Given the description of an element on the screen output the (x, y) to click on. 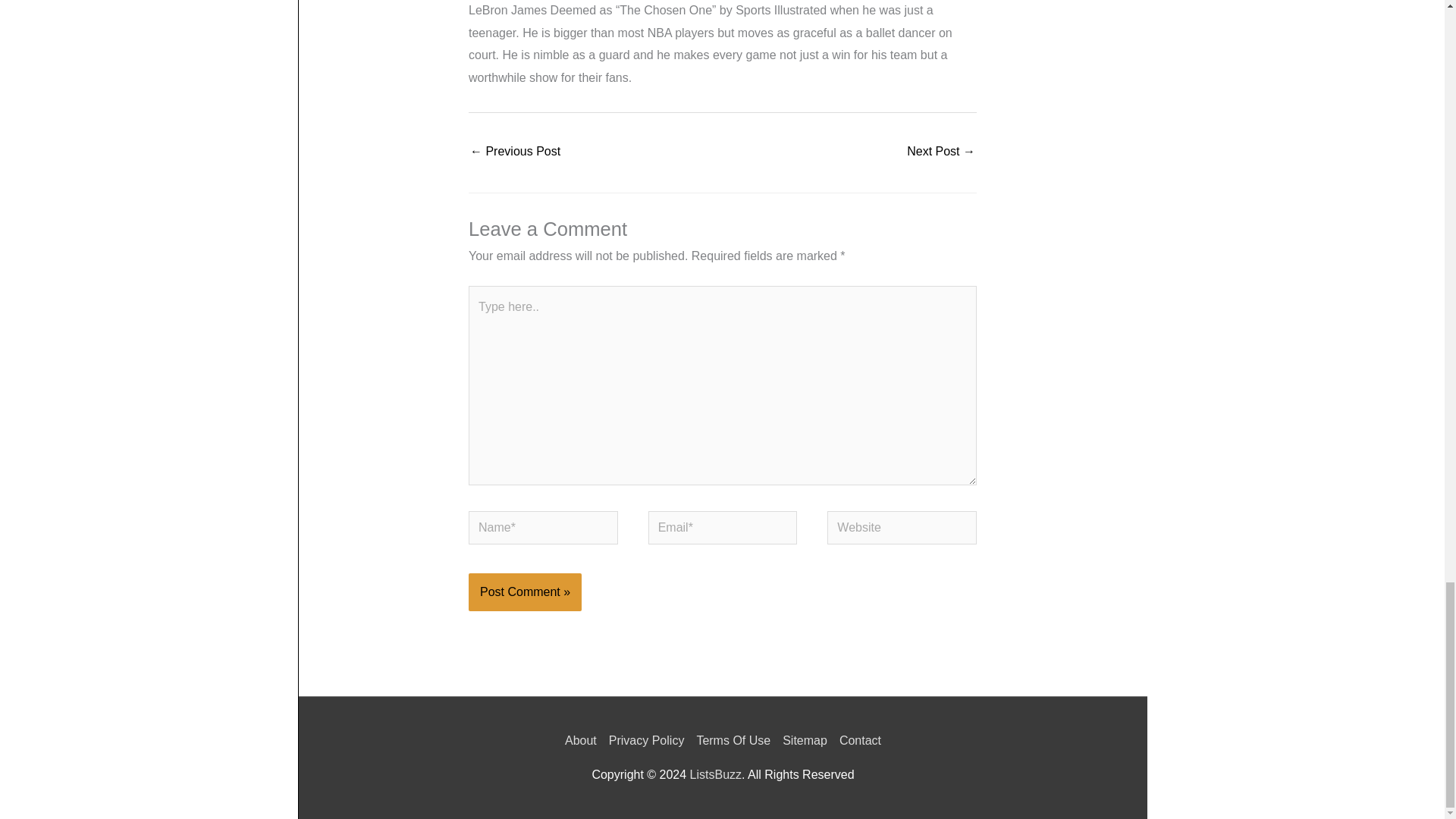
Contact (856, 739)
Top 10 Perks of Being a Single Girl (515, 152)
Sitemap (804, 739)
Privacy Policy (646, 739)
About (583, 739)
ListsBuzz (714, 774)
10 Wonderful Historical Venues in Greece to be Visited (941, 152)
Terms Of Use (733, 739)
